Given the description of an element on the screen output the (x, y) to click on. 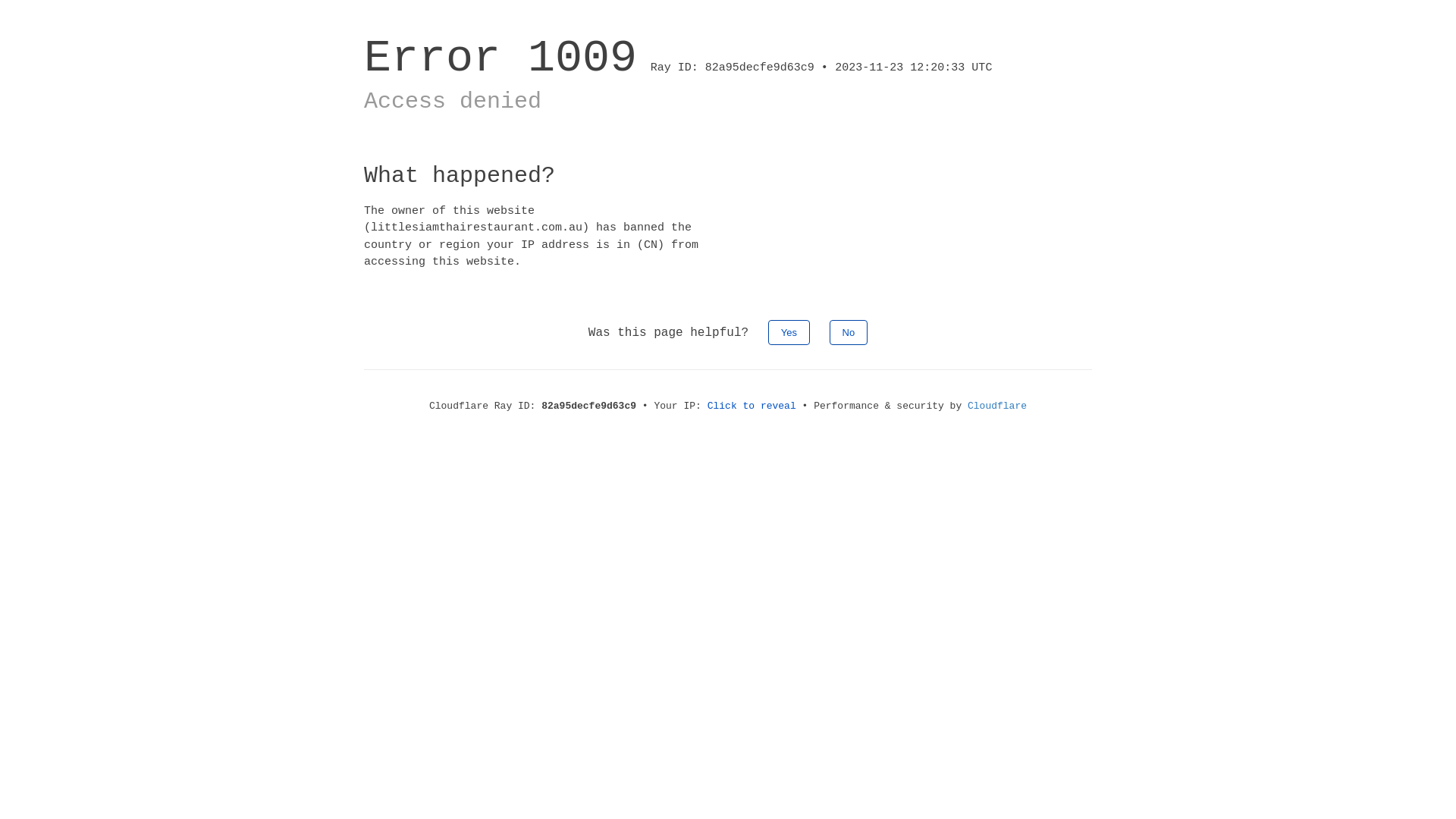
Click to reveal Element type: text (751, 405)
Cloudflare Element type: text (996, 405)
Yes Element type: text (788, 332)
No Element type: text (848, 332)
